Given the description of an element on the screen output the (x, y) to click on. 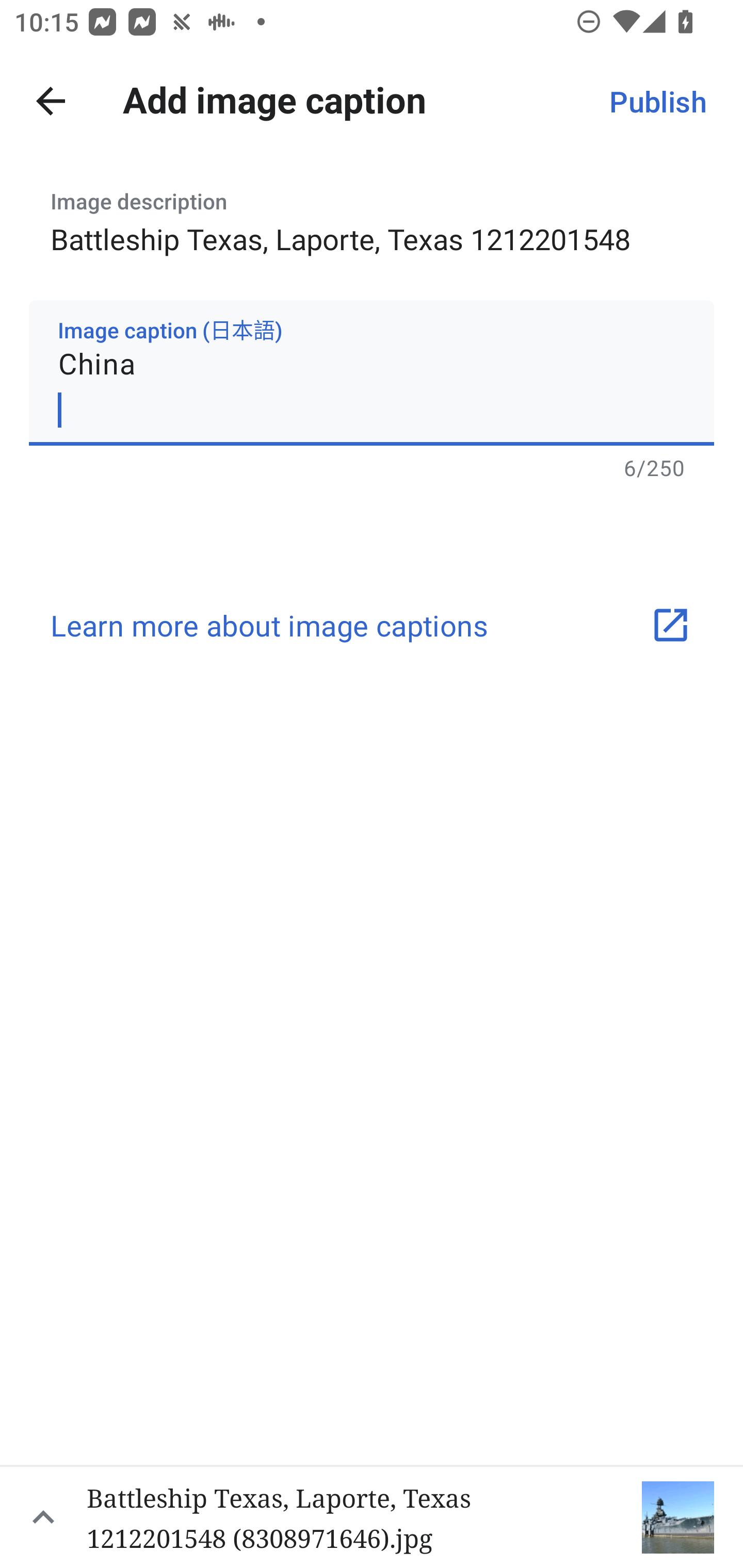
Cancel (50, 101)
Publish (657, 101)
China
 (371, 372)
Learn more about image captions (371, 624)
